Given the description of an element on the screen output the (x, y) to click on. 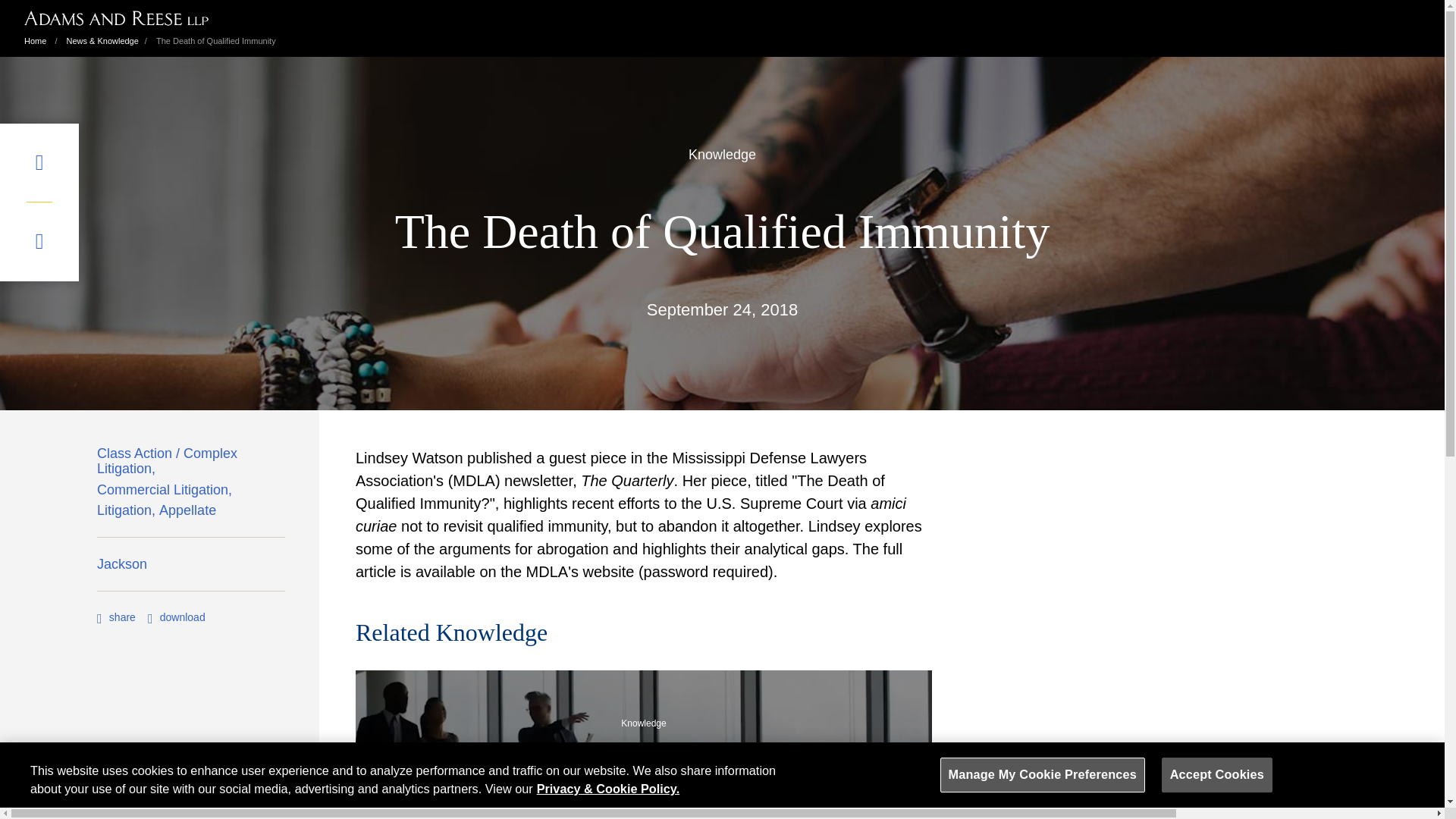
Appellate (186, 513)
Litigation (127, 513)
the-death-of-qualified-immunity.pdf (176, 616)
Commercial Litigation (166, 493)
search (39, 240)
Jackson (122, 567)
Manage My Cookie Preferences (1042, 774)
download (176, 616)
Accept Cookies (1216, 774)
